Given the description of an element on the screen output the (x, y) to click on. 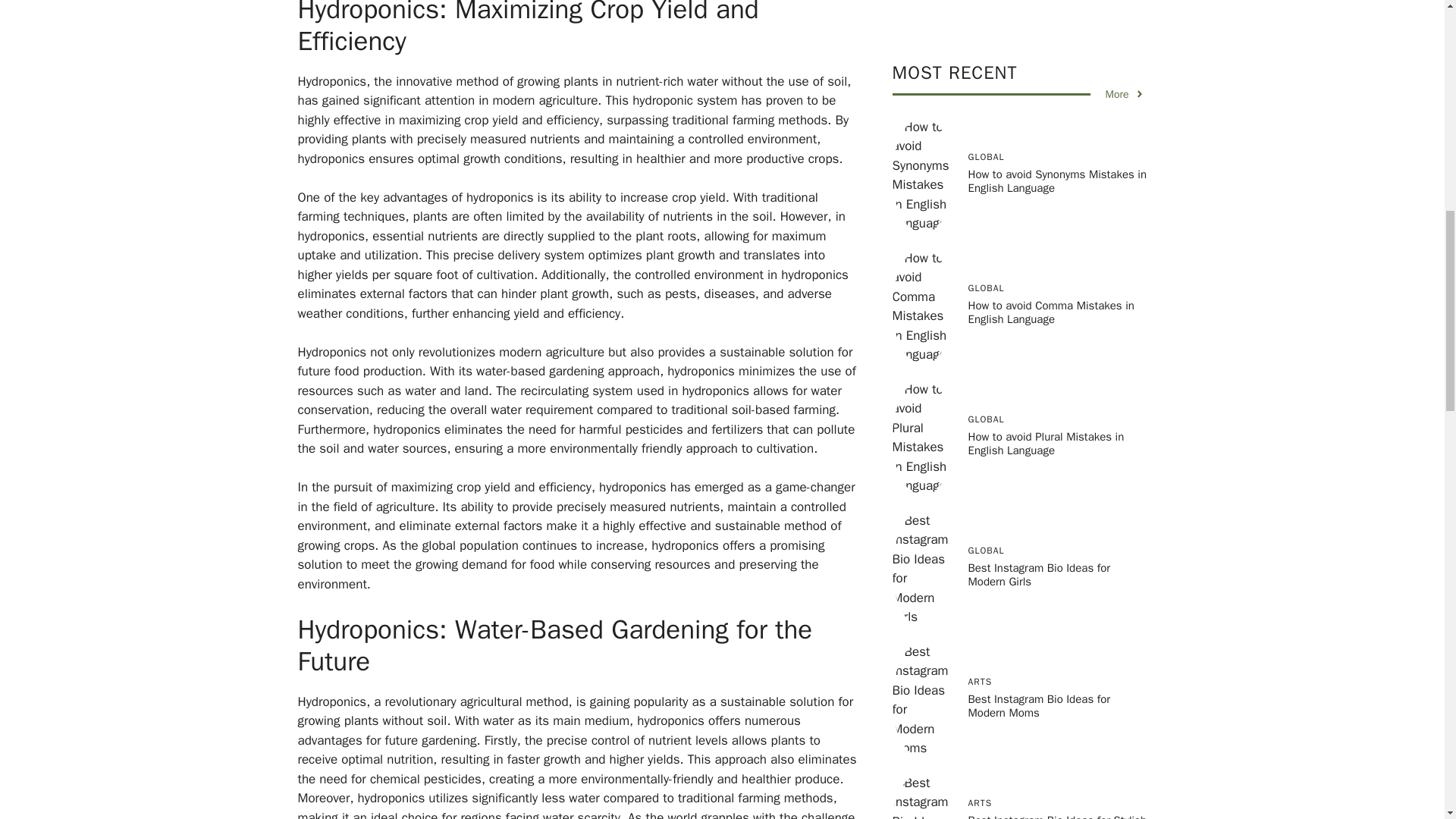
Best Instagram Bio Ideas for Stylish Boys (1056, 344)
Best Instagram Bio Ideas for Modern Girls (1038, 92)
Best Instagram Bio Ideas for Modern Moms (1038, 223)
